Given the description of an element on the screen output the (x, y) to click on. 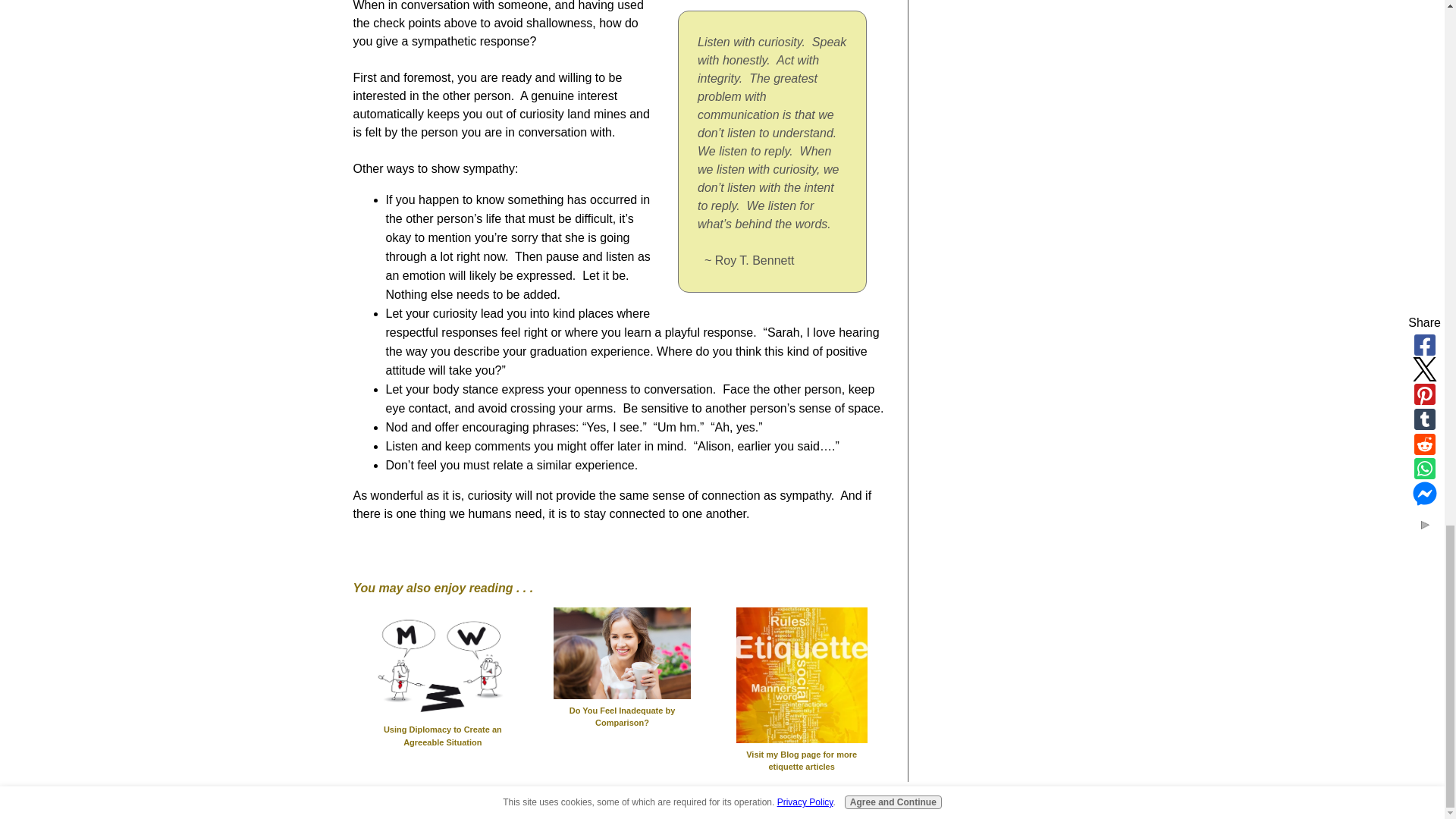
Go to The Etiquette Blog (801, 752)
Go to Do You Feel Inadequate by Comparison? (622, 708)
Using Diplomacy to Create an Agreeable Situation (442, 727)
Etiquette Rules (801, 674)
Visit my Blog page for more etiquette articles (801, 752)
Go to Using Diplomacy to Create an Agreeable Situation (442, 727)
Different Points of View (441, 663)
Do You Feel Inadequate by Comparison? (622, 708)
Gorgeous Friend (621, 653)
